Given the description of an element on the screen output the (x, y) to click on. 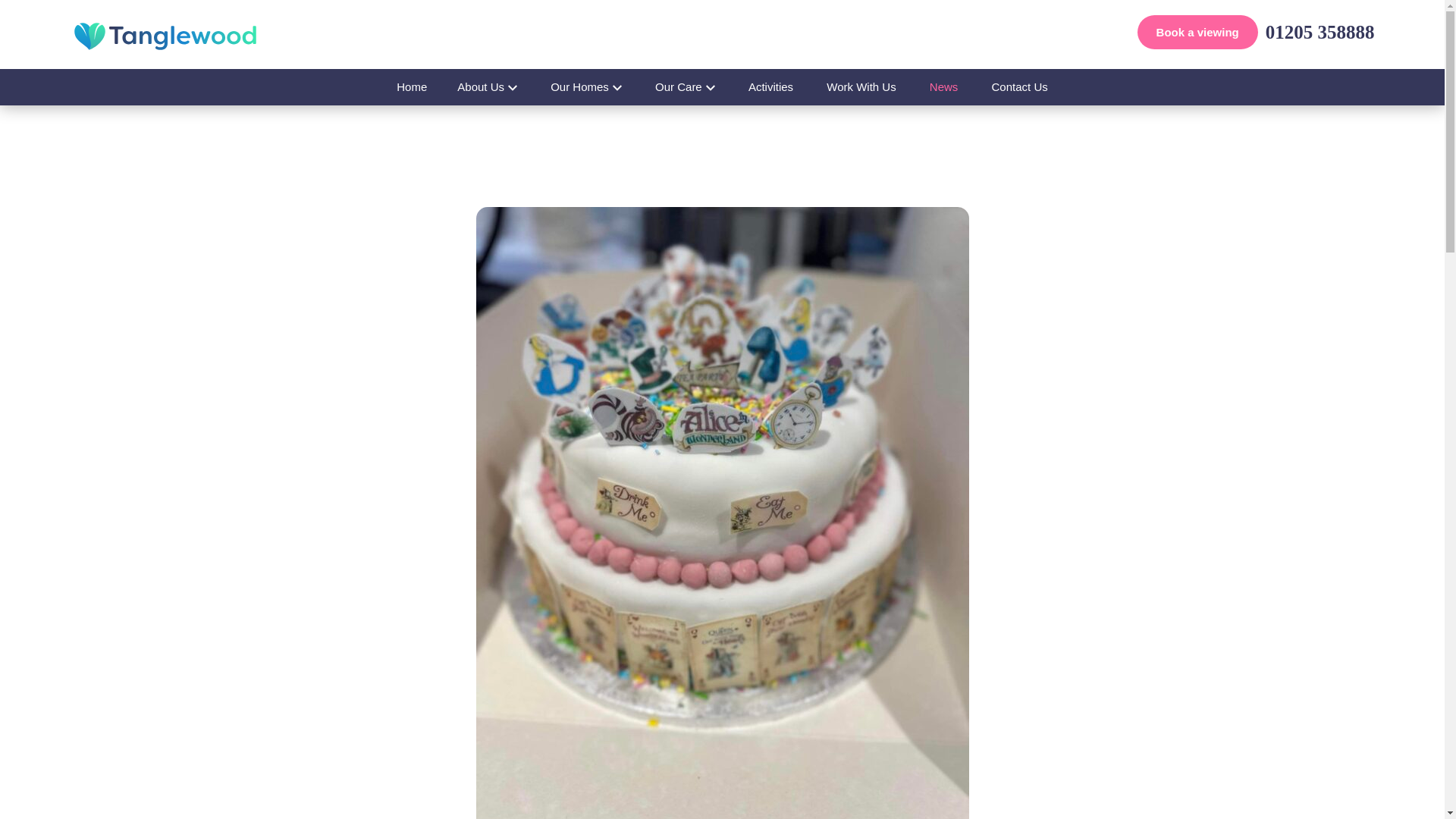
Home (411, 86)
01205 358888 (1319, 31)
Book a viewing (1197, 32)
